Given the description of an element on the screen output the (x, y) to click on. 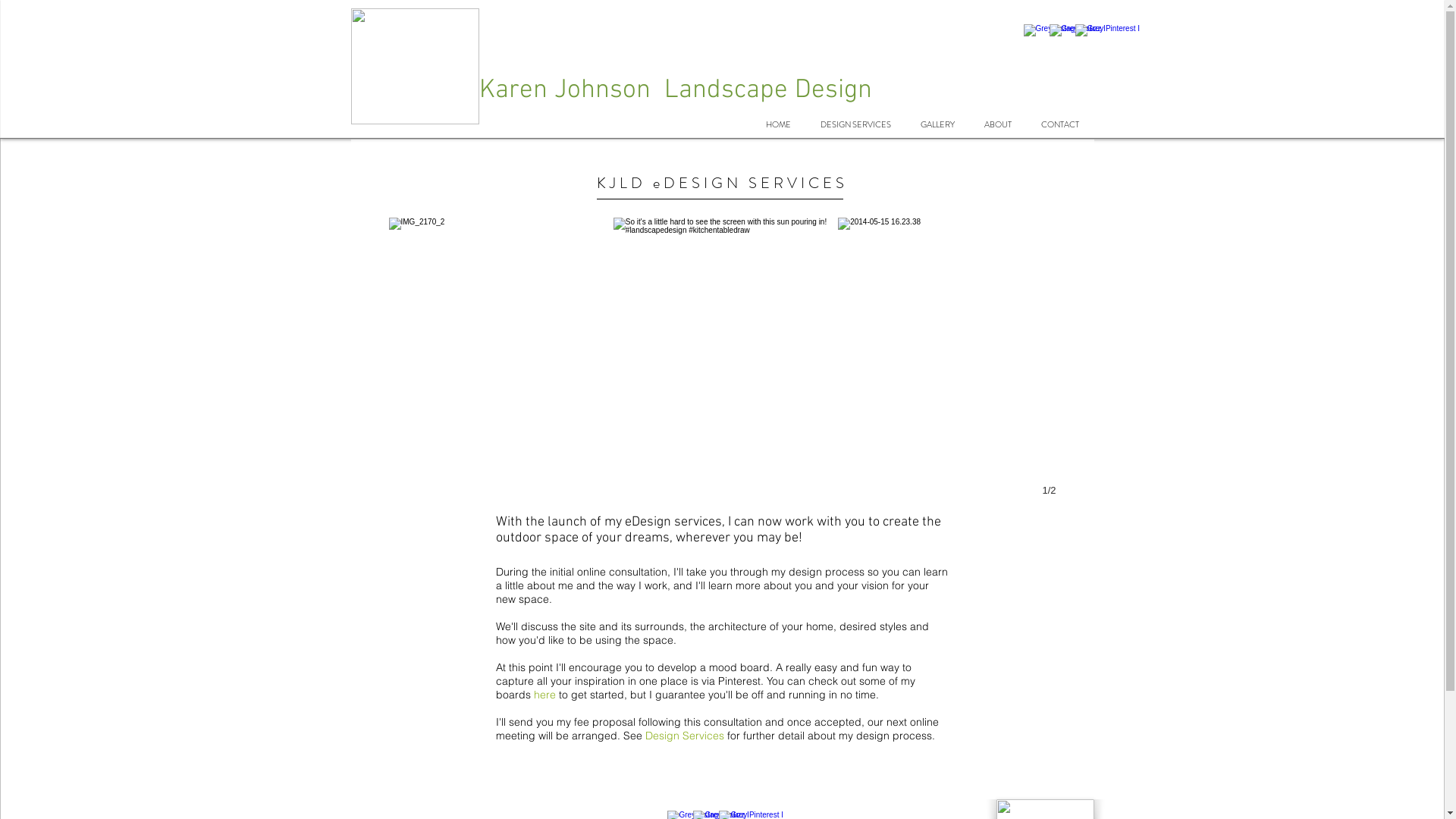
Design Services Element type: text (683, 735)
ABOUT Element type: text (997, 124)
here Element type: text (544, 694)
GALLERY Element type: text (937, 124)
Karen Johnson  Landscape Design Element type: text (675, 90)
DESIGN SERVICES Element type: text (855, 124)
HOME Element type: text (778, 124)
CONTACT Element type: text (1060, 124)
